Given the description of an element on the screen output the (x, y) to click on. 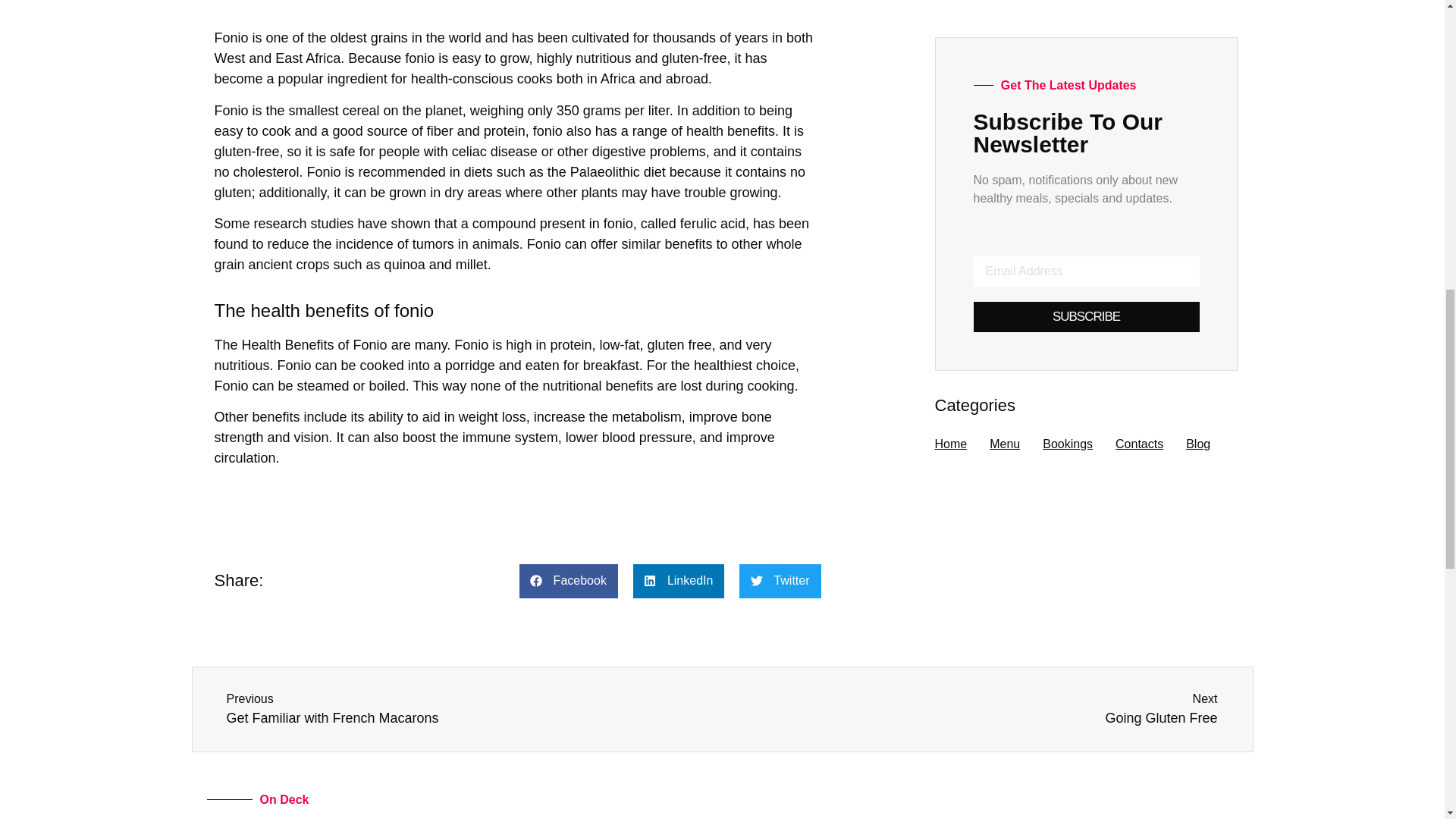
Contacts (975, 709)
Menu (1139, 444)
Bookings (1005, 444)
SUBSCRIBE (1067, 444)
Home (468, 709)
